Given the description of an element on the screen output the (x, y) to click on. 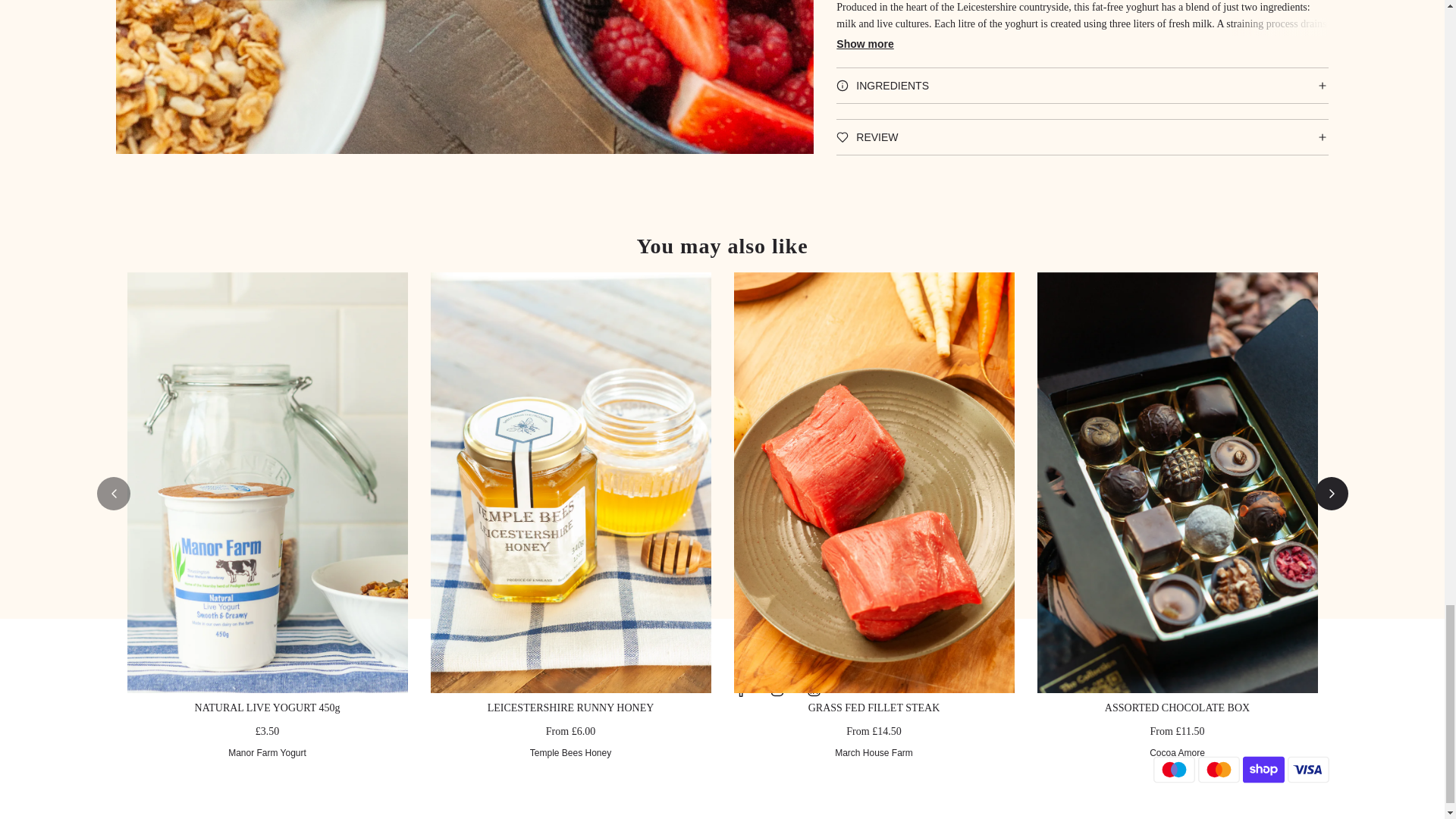
GRASS FED FILLET STEAK (874, 707)
LEICESTERSHIRE RUNNY HONEY (570, 707)
ASSORTED CHOCOLATE BOX (1177, 707)
NATURAL LIVE YOGURT 450g (267, 707)
